Given the description of an element on the screen output the (x, y) to click on. 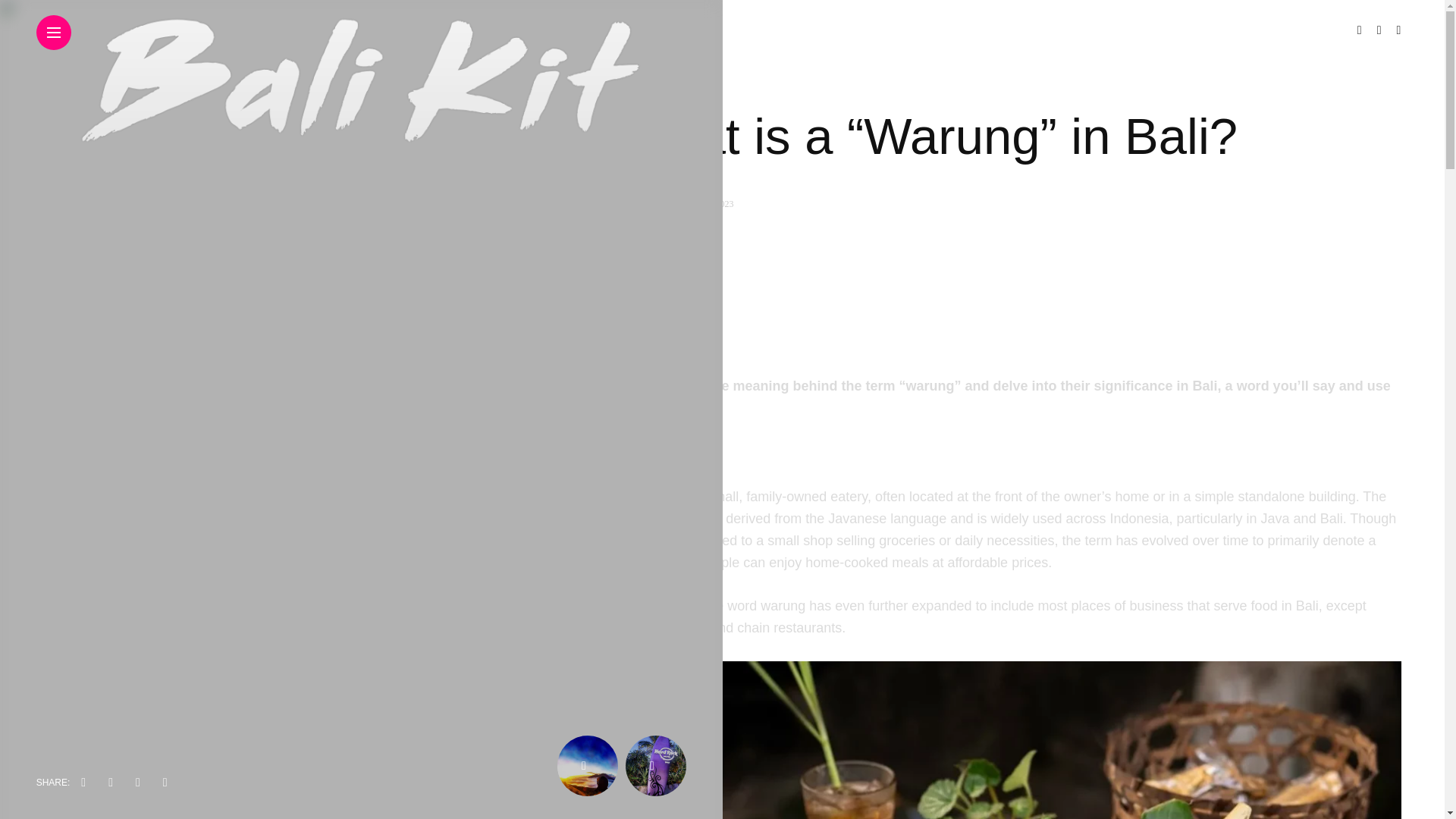
BLOG (644, 78)
Posts by Balife (663, 204)
bule (679, 605)
Balife (663, 204)
